Given the description of an element on the screen output the (x, y) to click on. 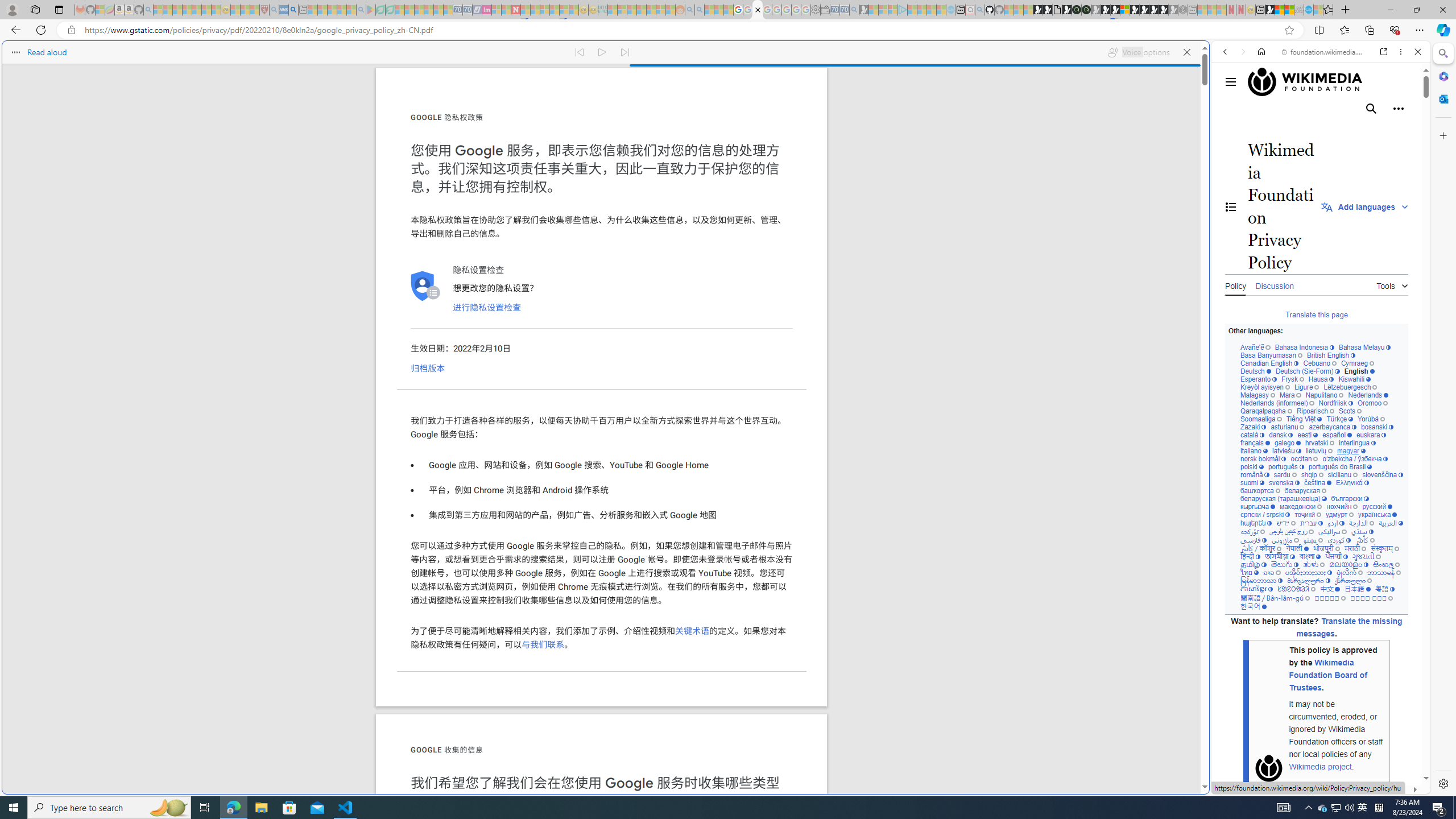
Frequently visited (965, 151)
Tools (1391, 284)
Qaraqalpaqsha (1266, 411)
italiano (1254, 451)
bosanski (1376, 427)
Ripoarisch (1314, 411)
Wiktionary (1315, 380)
